Given the description of an element on the screen output the (x, y) to click on. 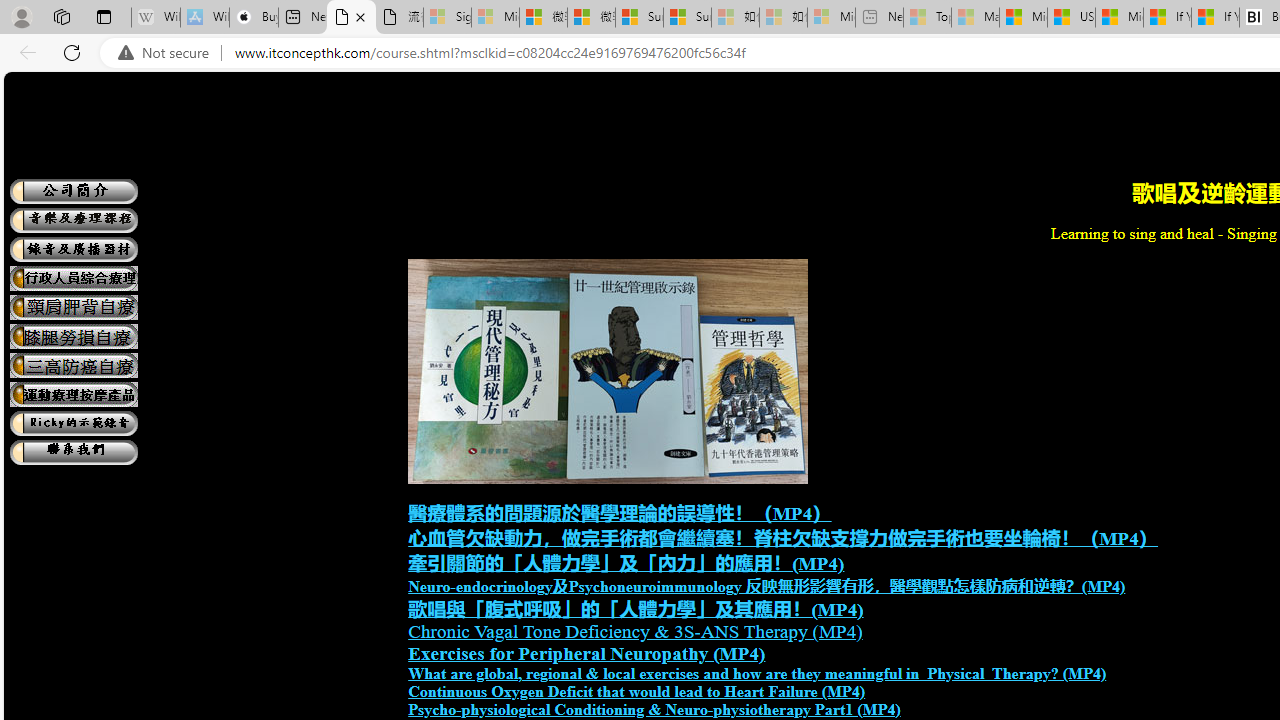
Refresh (72, 52)
Not secure (168, 53)
Personal Profile (21, 16)
Top Stories - MSN - Sleeping (927, 17)
Sign in to your Microsoft account - Sleeping (447, 17)
Microsoft account | Account Checkup - Sleeping (831, 17)
Back (24, 52)
Wikipedia - Sleeping (155, 17)
Microsoft Start (1119, 17)
